Given the description of an element on the screen output the (x, y) to click on. 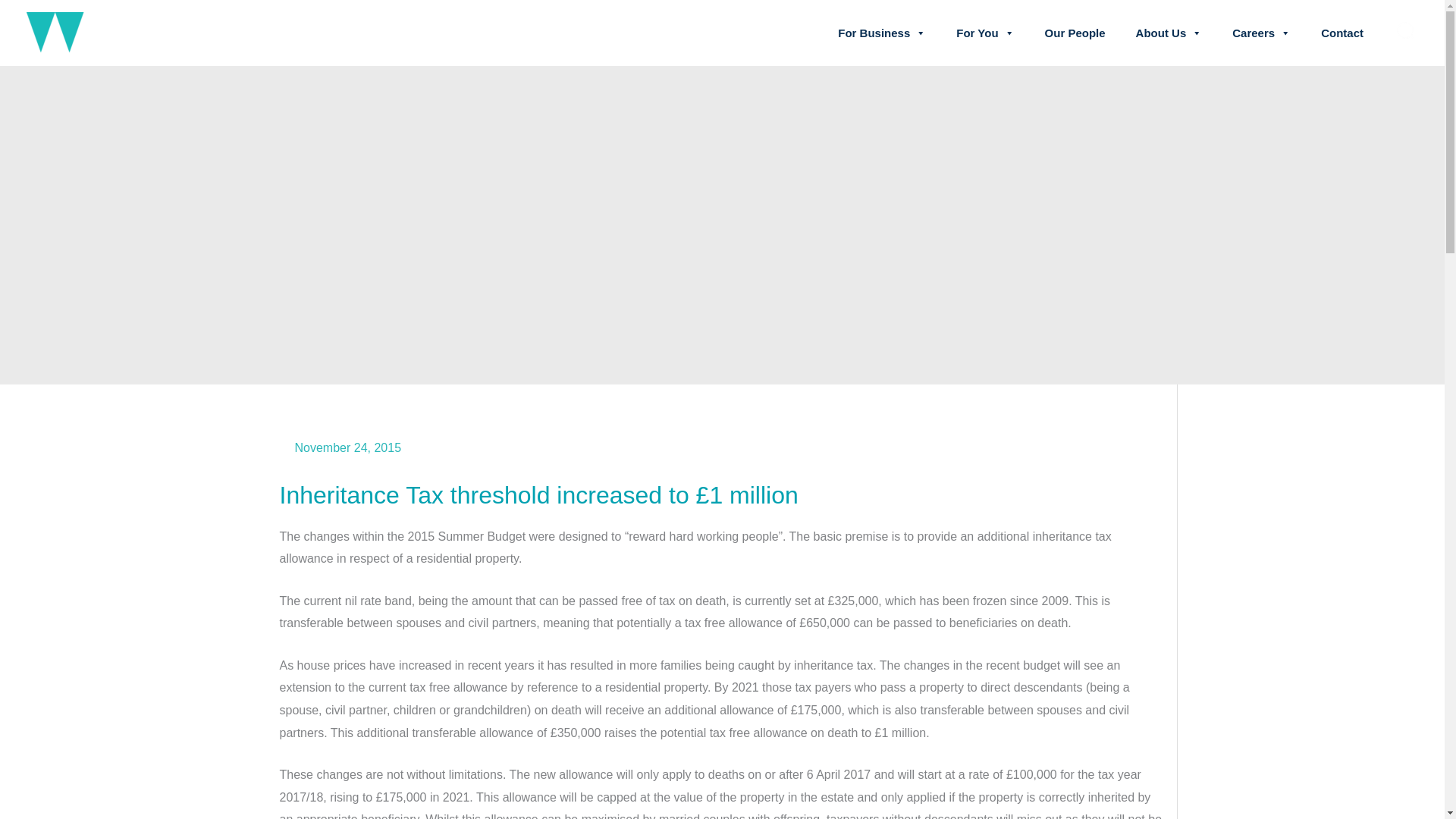
For Business (881, 33)
For You (984, 33)
Our People (1075, 33)
